Given the description of an element on the screen output the (x, y) to click on. 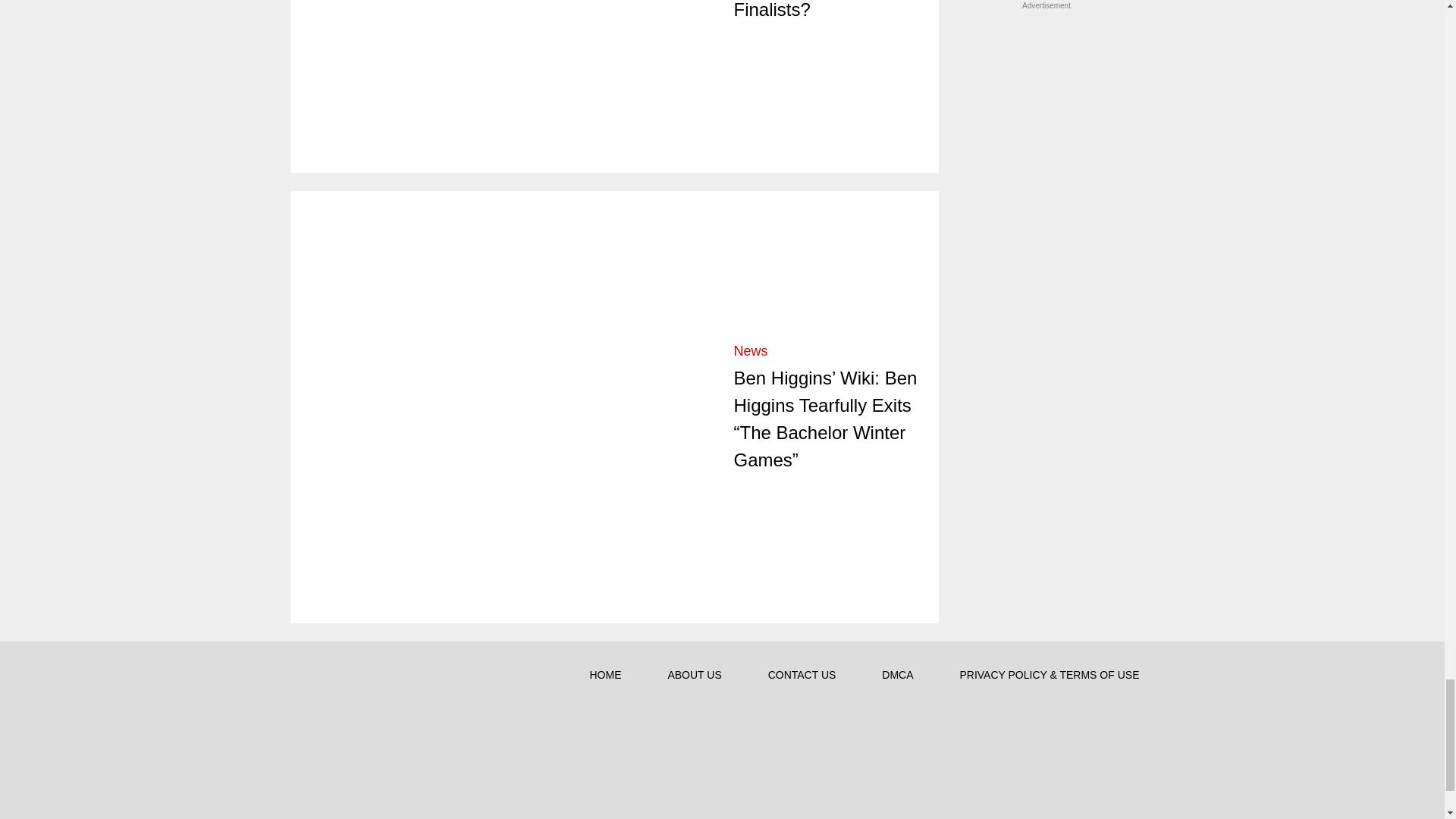
Category Name (750, 350)
